Given the description of an element on the screen output the (x, y) to click on. 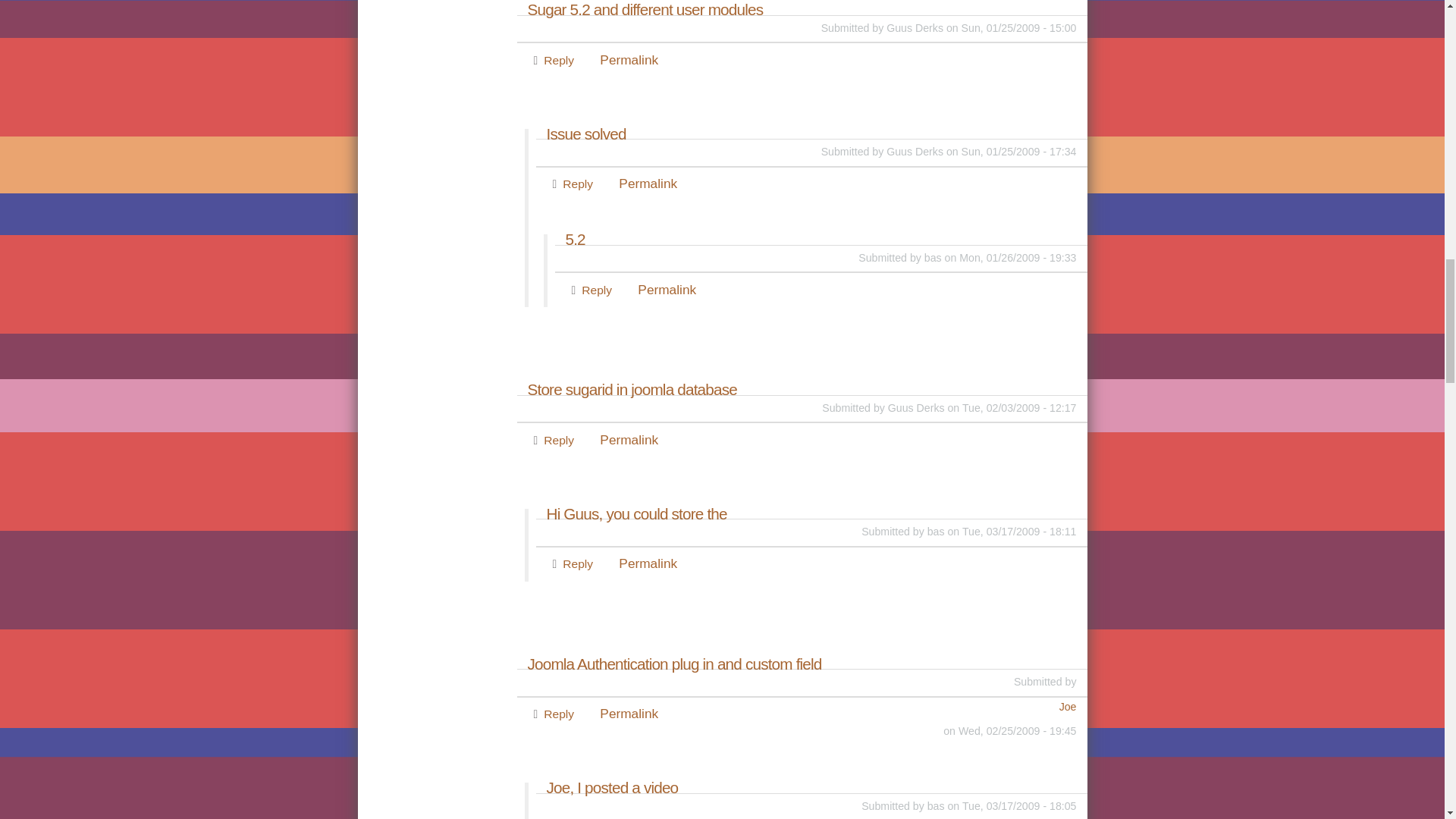
Issue solved (810, 134)
Permalink (628, 59)
Sugar 5.2 and different user modules (801, 9)
Reply (577, 183)
Reply (558, 60)
